Given the description of an element on the screen output the (x, y) to click on. 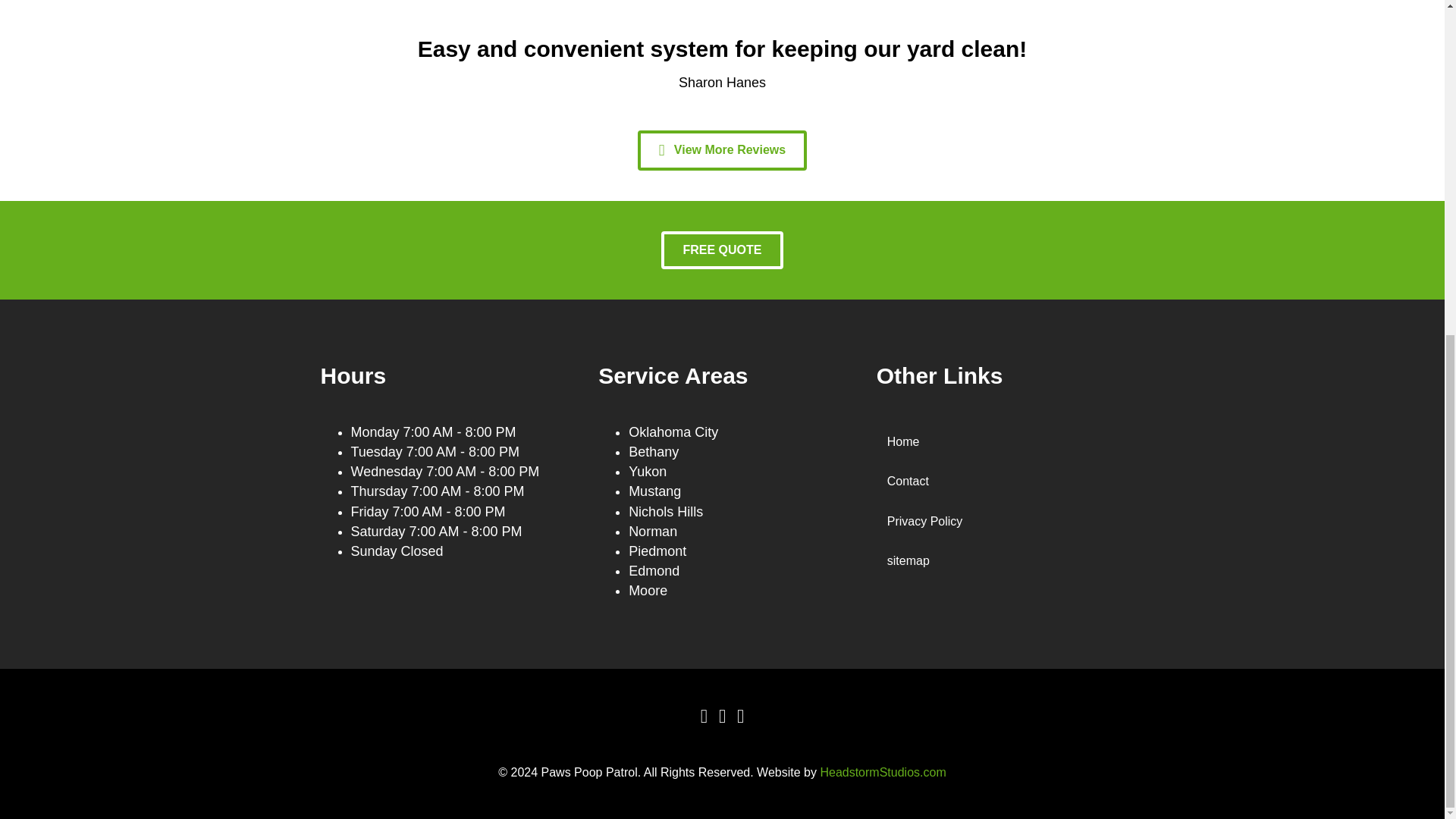
Contact (1000, 480)
sitemap (1000, 560)
Moore (647, 590)
View More Reviews (721, 150)
Home (1000, 441)
FREE QUOTE (722, 249)
Privacy Policy (1000, 521)
HeadstormStudios.com (881, 771)
